Given the description of an element on the screen output the (x, y) to click on. 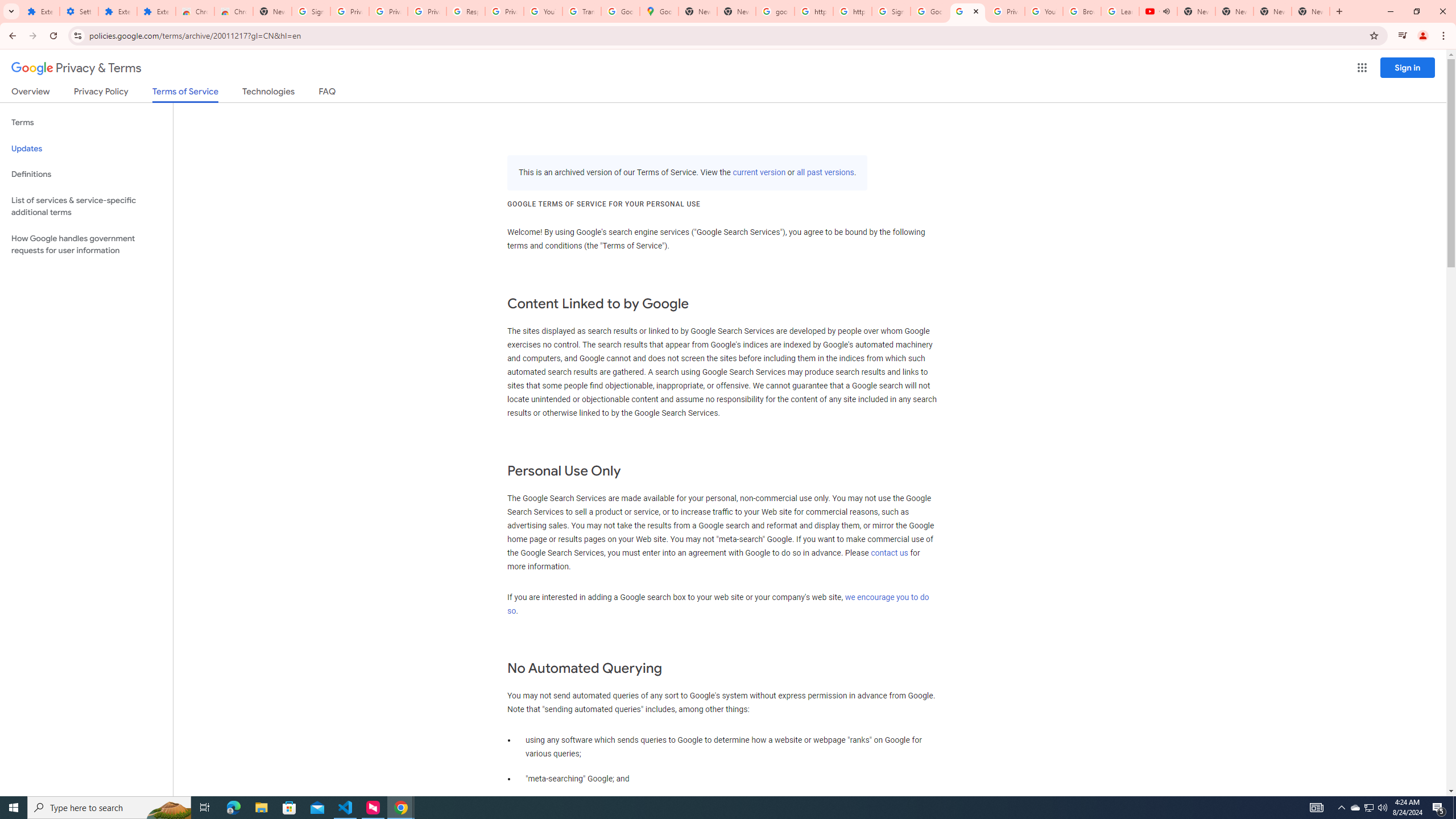
YouTube (542, 11)
List of services & service-specific additional terms (86, 206)
How Google handles government requests for user information (86, 244)
Terms (86, 122)
https://scholar.google.com/ (813, 11)
Chrome Web Store - Themes (233, 11)
